Given the description of an element on the screen output the (x, y) to click on. 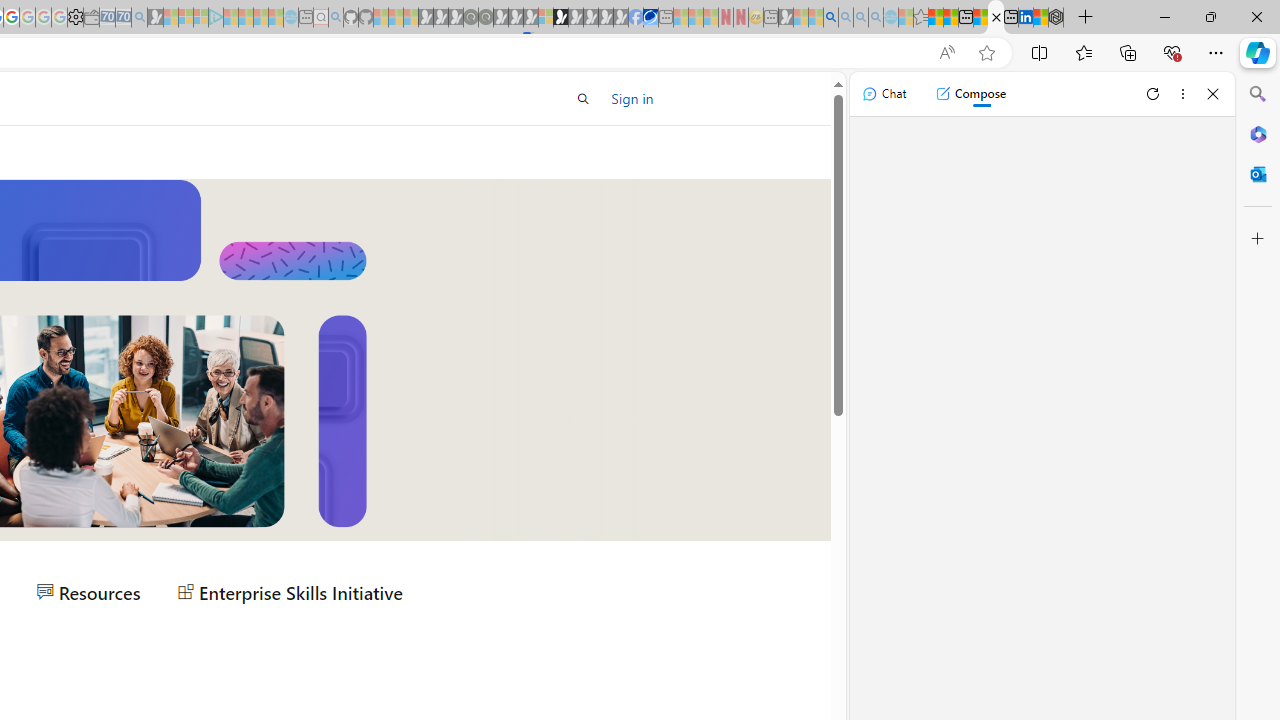
Compose (970, 93)
Microsoft Learn for Organizations | Microsoft Learn (996, 17)
Sign in to your account - Sleeping (545, 17)
Bing AI - Search (831, 17)
MSN - Sleeping (786, 17)
Future Focus Report 2024 - Sleeping (485, 17)
Microsoft Start Gaming - Sleeping (155, 17)
Resources (87, 592)
